Given the description of an element on the screen output the (x, y) to click on. 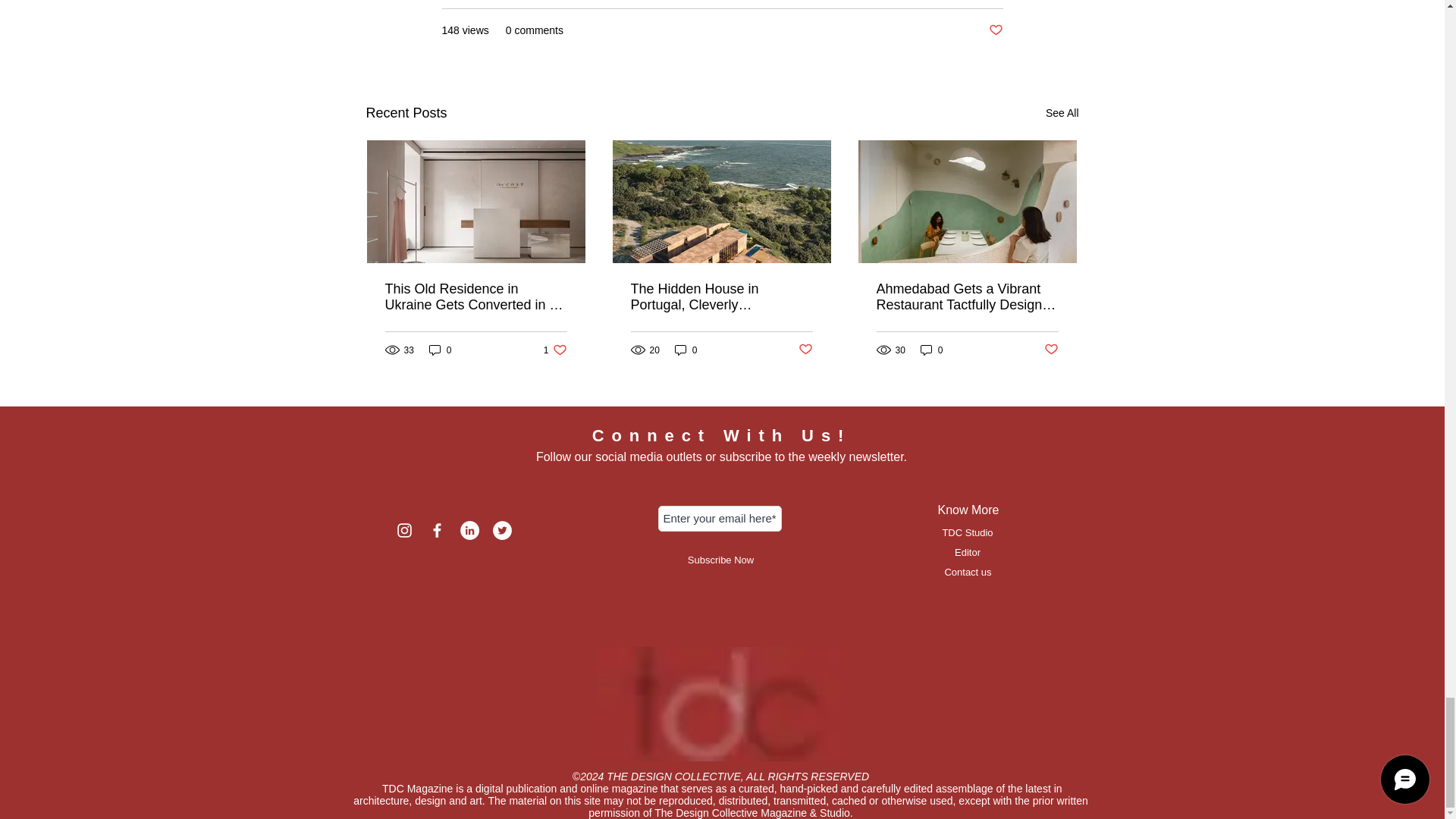
0 (440, 350)
Post not marked as liked (995, 30)
See All (1061, 113)
